Given the description of an element on the screen output the (x, y) to click on. 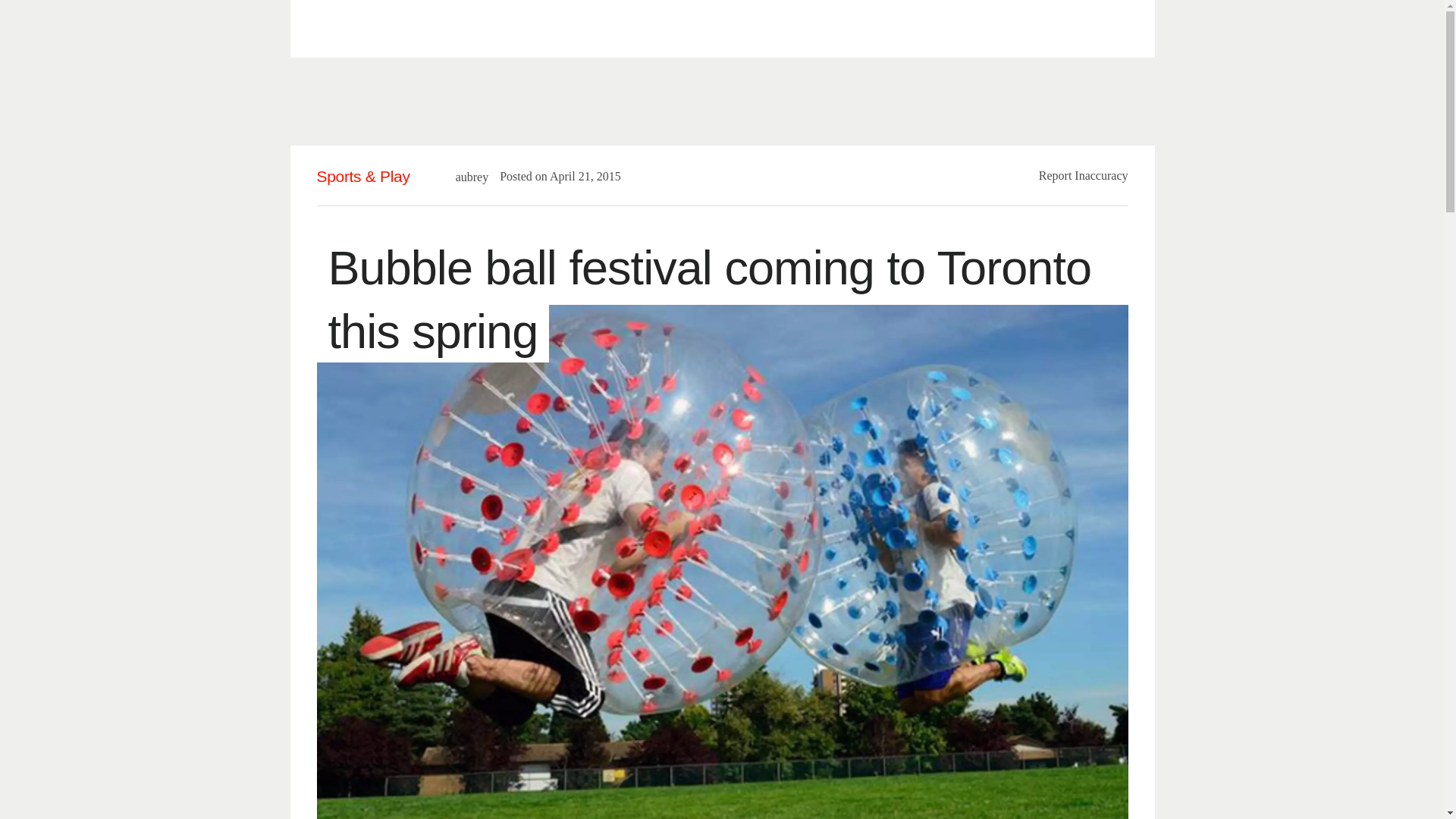
2015-04-21T00:09:00 (578, 175)
Report Inaccuracy (1083, 174)
